Given the description of an element on the screen output the (x, y) to click on. 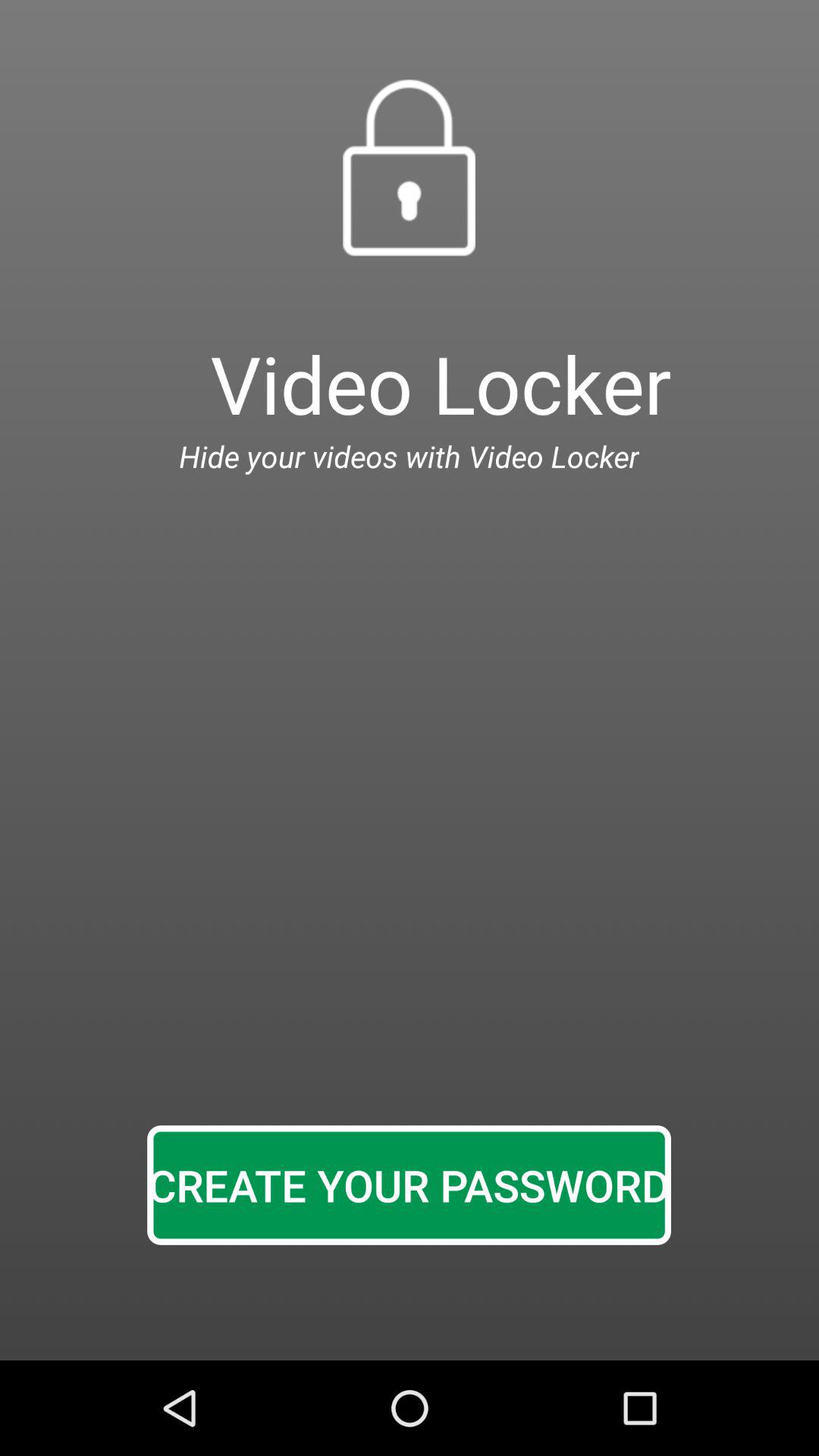
scroll to create your password icon (409, 1184)
